Given the description of an element on the screen output the (x, y) to click on. 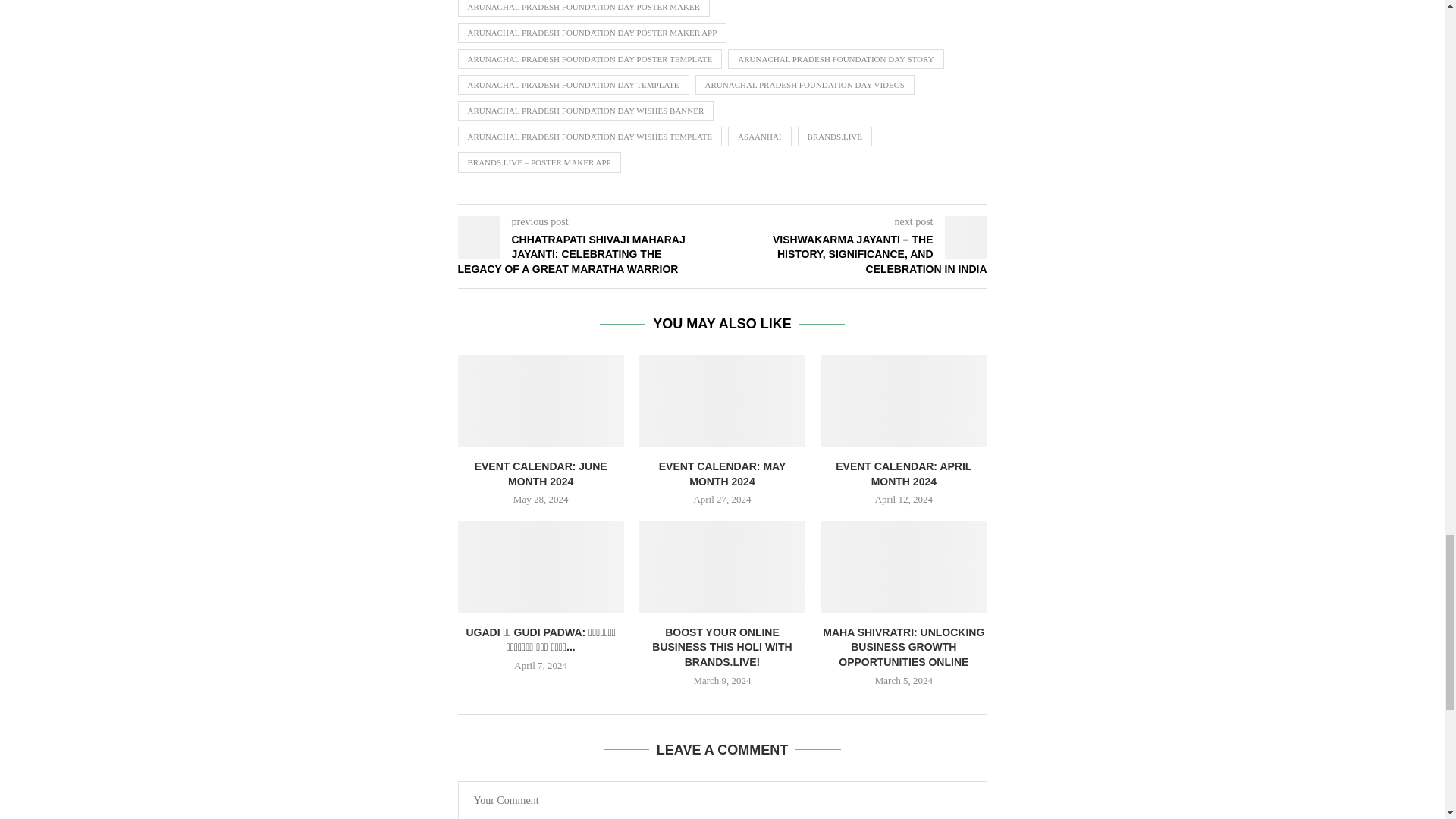
EVENT CALENDAR: MAY MONTH 2024 (722, 400)
Boost Your Online Business this Holi with Brands.live! (722, 566)
EVENT CALENDAR: APRIL MONTH 2024 (904, 400)
EVENT CALENDAR: JUNE MONTH 2024 (541, 400)
